Given the description of an element on the screen output the (x, y) to click on. 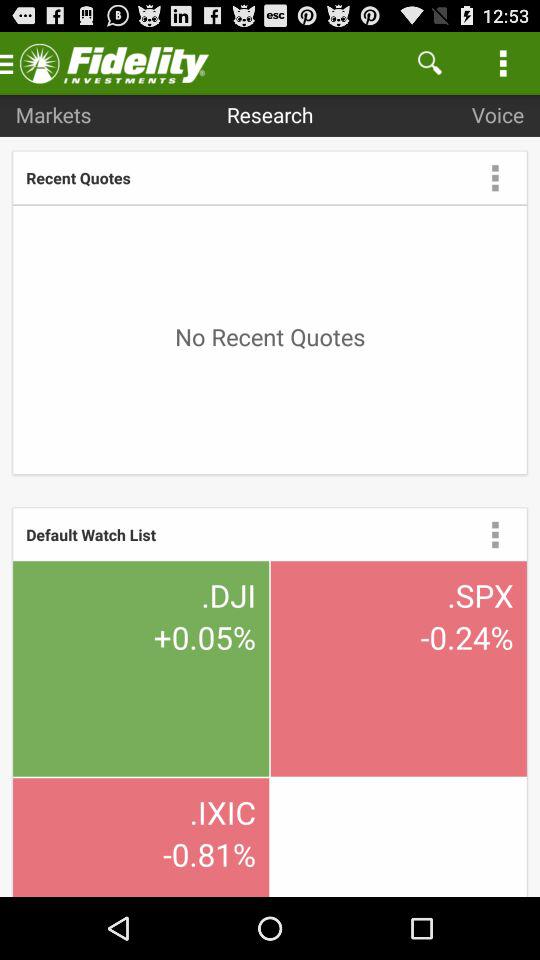
launch the icon above the voice icon (503, 62)
